Given the description of an element on the screen output the (x, y) to click on. 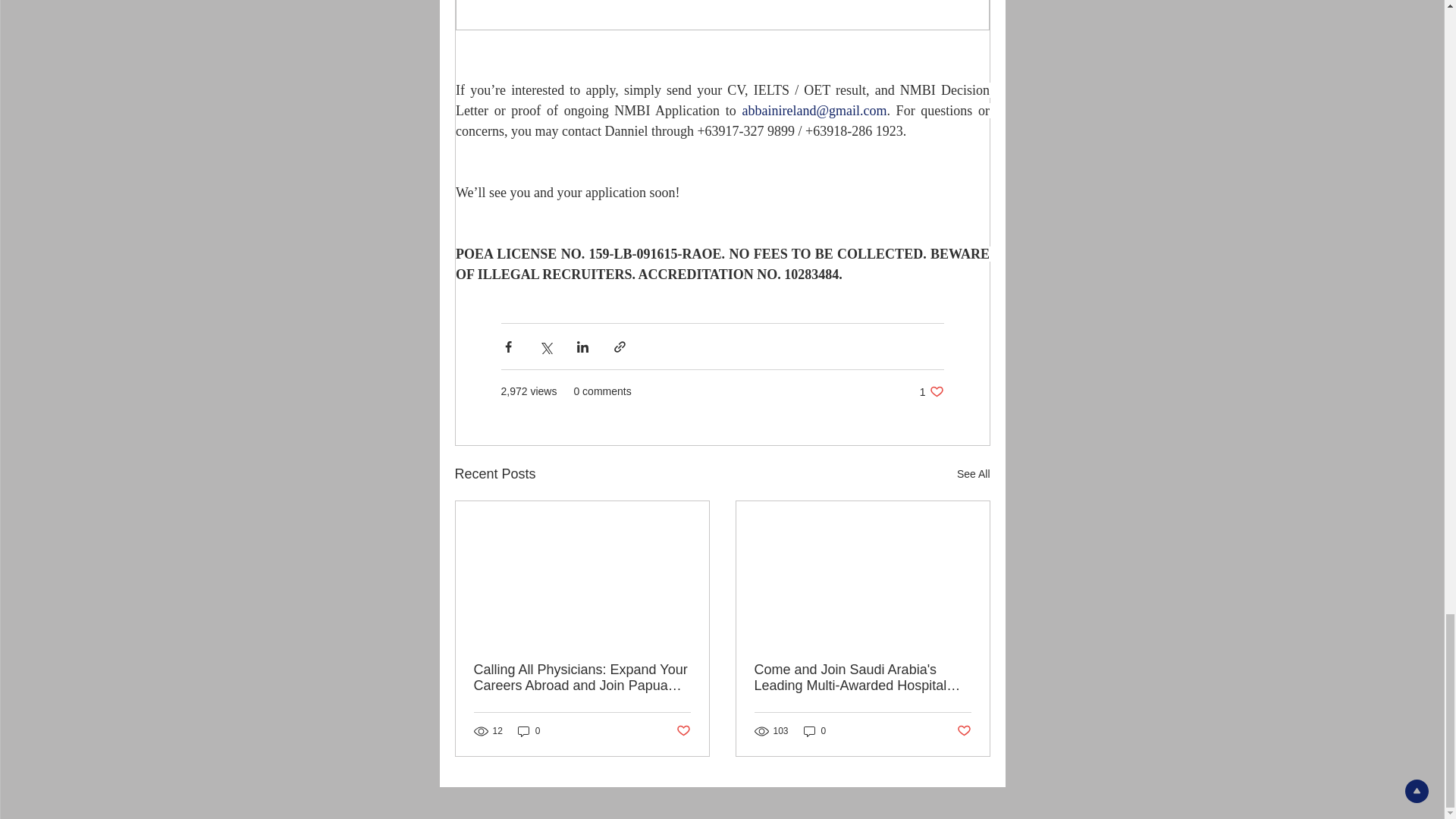
See All (973, 474)
Post not marked as liked (683, 731)
Post not marked as liked (963, 731)
0 (528, 730)
0 (815, 730)
